Given the description of an element on the screen output the (x, y) to click on. 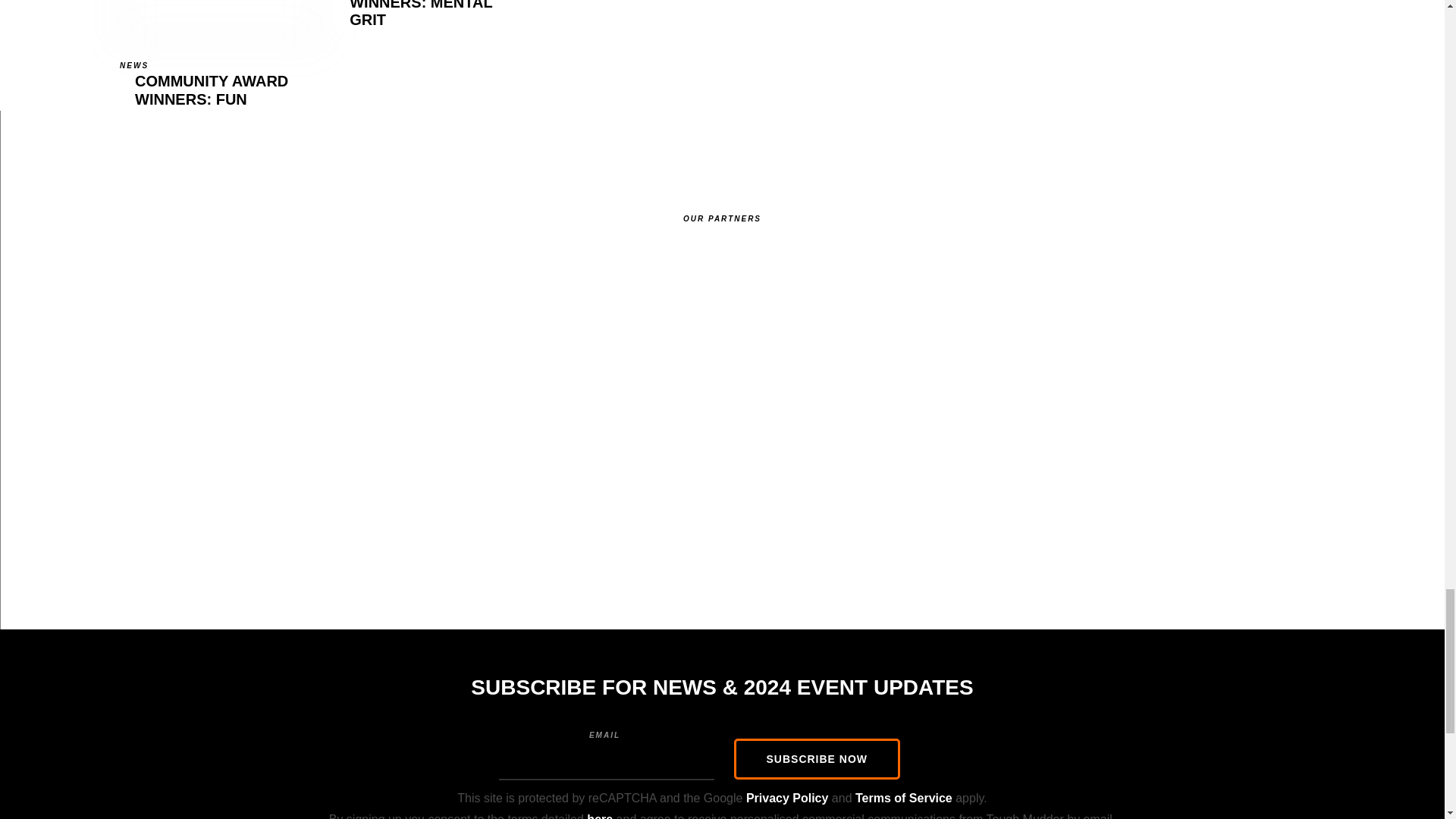
SUBSCRIBE NOW (434, 61)
